Given the description of an element on the screen output the (x, y) to click on. 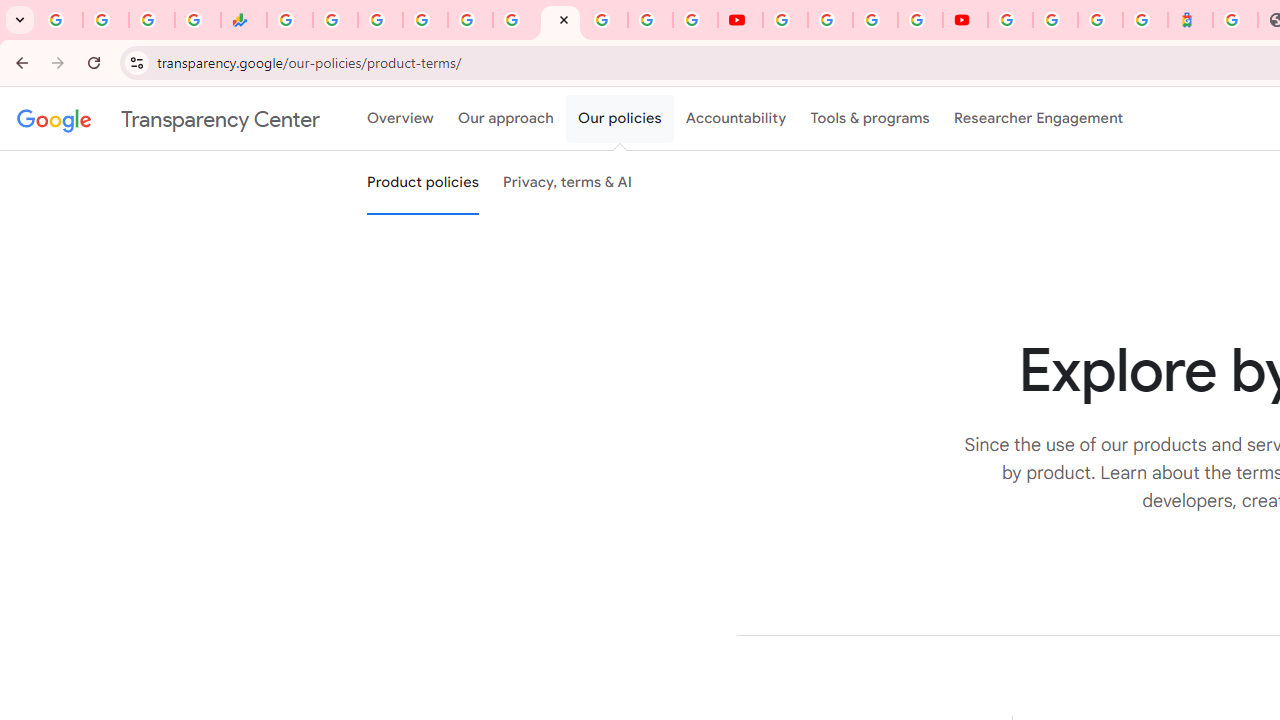
Accountability (735, 119)
Our approach (506, 119)
Google Workspace Admin Community (60, 20)
Google Account Help (829, 20)
Atour Hotel - Google hotels (1190, 20)
Privacy Checkup (695, 20)
